Given the description of an element on the screen output the (x, y) to click on. 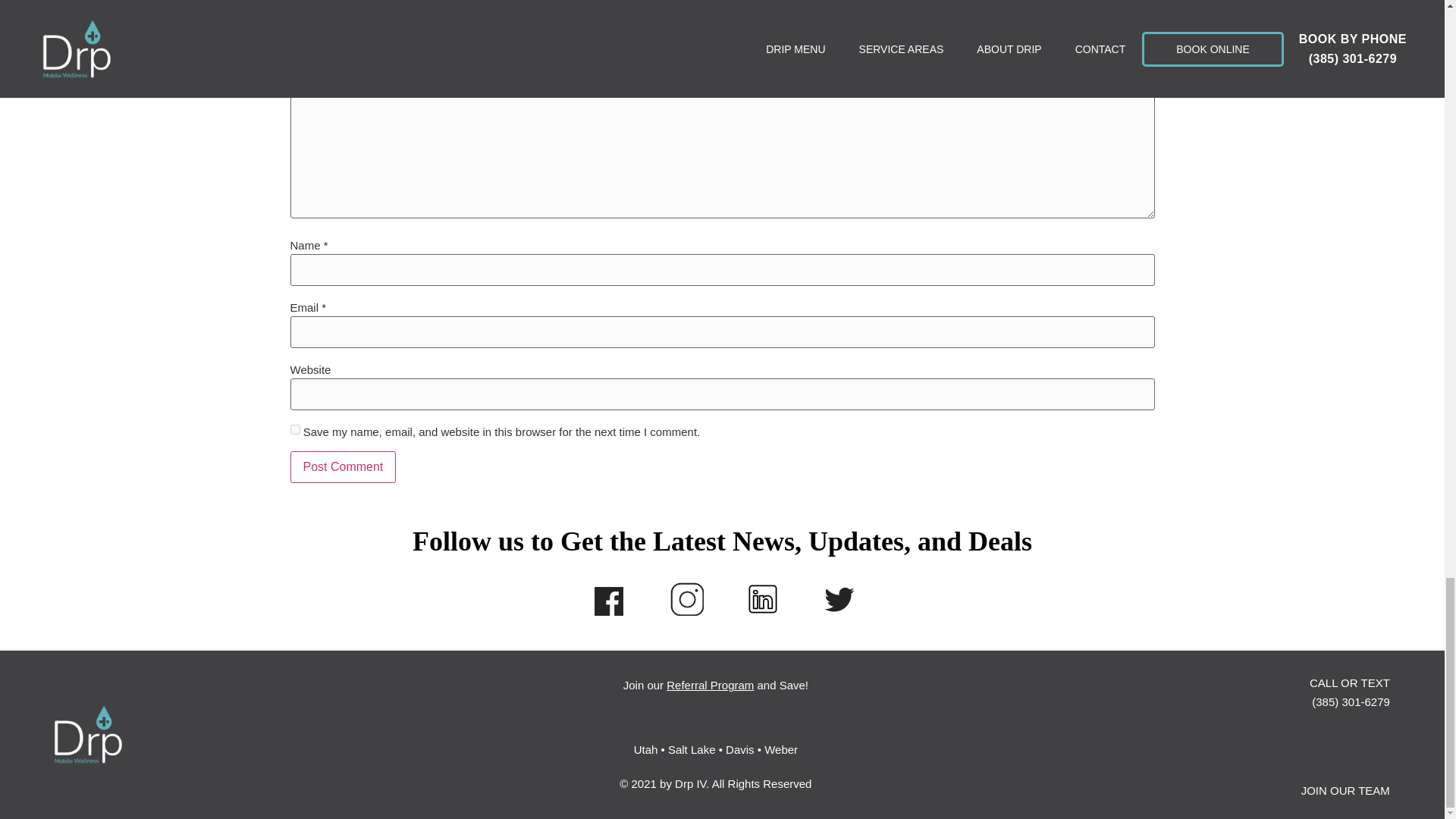
yes (294, 429)
Post Comment (342, 467)
Post Comment (342, 467)
